Given the description of an element on the screen output the (x, y) to click on. 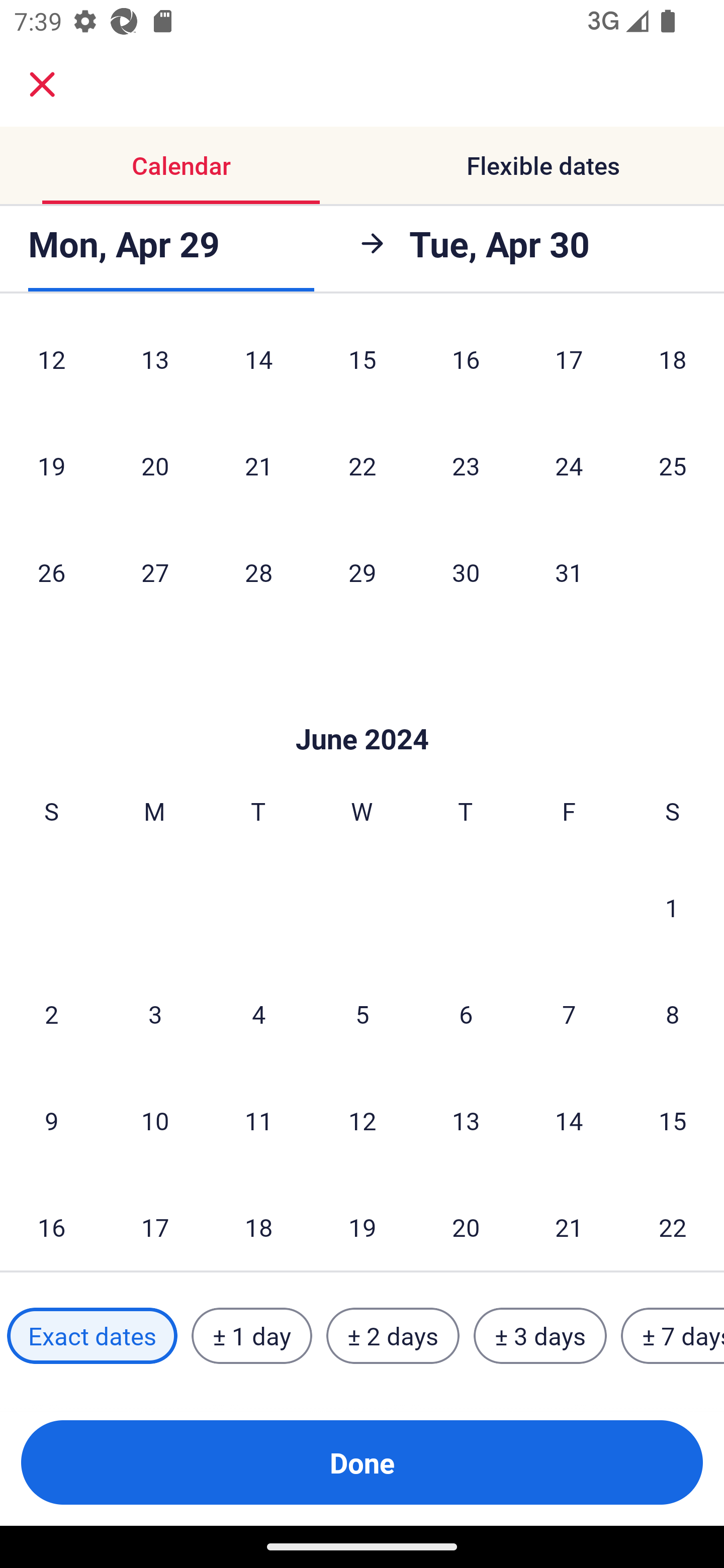
close. (42, 84)
Flexible dates (542, 164)
12 Sunday, May 12, 2024 (51, 365)
13 Monday, May 13, 2024 (155, 365)
14 Tuesday, May 14, 2024 (258, 365)
15 Wednesday, May 15, 2024 (362, 365)
16 Thursday, May 16, 2024 (465, 365)
17 Friday, May 17, 2024 (569, 365)
18 Saturday, May 18, 2024 (672, 365)
19 Sunday, May 19, 2024 (51, 465)
20 Monday, May 20, 2024 (155, 465)
21 Tuesday, May 21, 2024 (258, 465)
22 Wednesday, May 22, 2024 (362, 465)
23 Thursday, May 23, 2024 (465, 465)
24 Friday, May 24, 2024 (569, 465)
25 Saturday, May 25, 2024 (672, 465)
26 Sunday, May 26, 2024 (51, 572)
27 Monday, May 27, 2024 (155, 572)
28 Tuesday, May 28, 2024 (258, 572)
29 Wednesday, May 29, 2024 (362, 572)
30 Thursday, May 30, 2024 (465, 572)
31 Friday, May 31, 2024 (569, 572)
Skip to Done (362, 708)
1 Saturday, June 1, 2024 (672, 907)
2 Sunday, June 2, 2024 (51, 1013)
3 Monday, June 3, 2024 (155, 1013)
4 Tuesday, June 4, 2024 (258, 1013)
5 Wednesday, June 5, 2024 (362, 1013)
6 Thursday, June 6, 2024 (465, 1013)
7 Friday, June 7, 2024 (569, 1013)
8 Saturday, June 8, 2024 (672, 1013)
9 Sunday, June 9, 2024 (51, 1120)
10 Monday, June 10, 2024 (155, 1120)
11 Tuesday, June 11, 2024 (258, 1120)
12 Wednesday, June 12, 2024 (362, 1120)
13 Thursday, June 13, 2024 (465, 1120)
14 Friday, June 14, 2024 (569, 1120)
15 Saturday, June 15, 2024 (672, 1120)
16 Sunday, June 16, 2024 (51, 1223)
17 Monday, June 17, 2024 (155, 1223)
18 Tuesday, June 18, 2024 (258, 1223)
19 Wednesday, June 19, 2024 (362, 1223)
20 Thursday, June 20, 2024 (465, 1223)
21 Friday, June 21, 2024 (569, 1223)
22 Saturday, June 22, 2024 (672, 1223)
Exact dates (92, 1335)
± 1 day (251, 1335)
± 2 days (392, 1335)
± 3 days (539, 1335)
± 7 days (672, 1335)
Done (361, 1462)
